Given the description of an element on the screen output the (x, y) to click on. 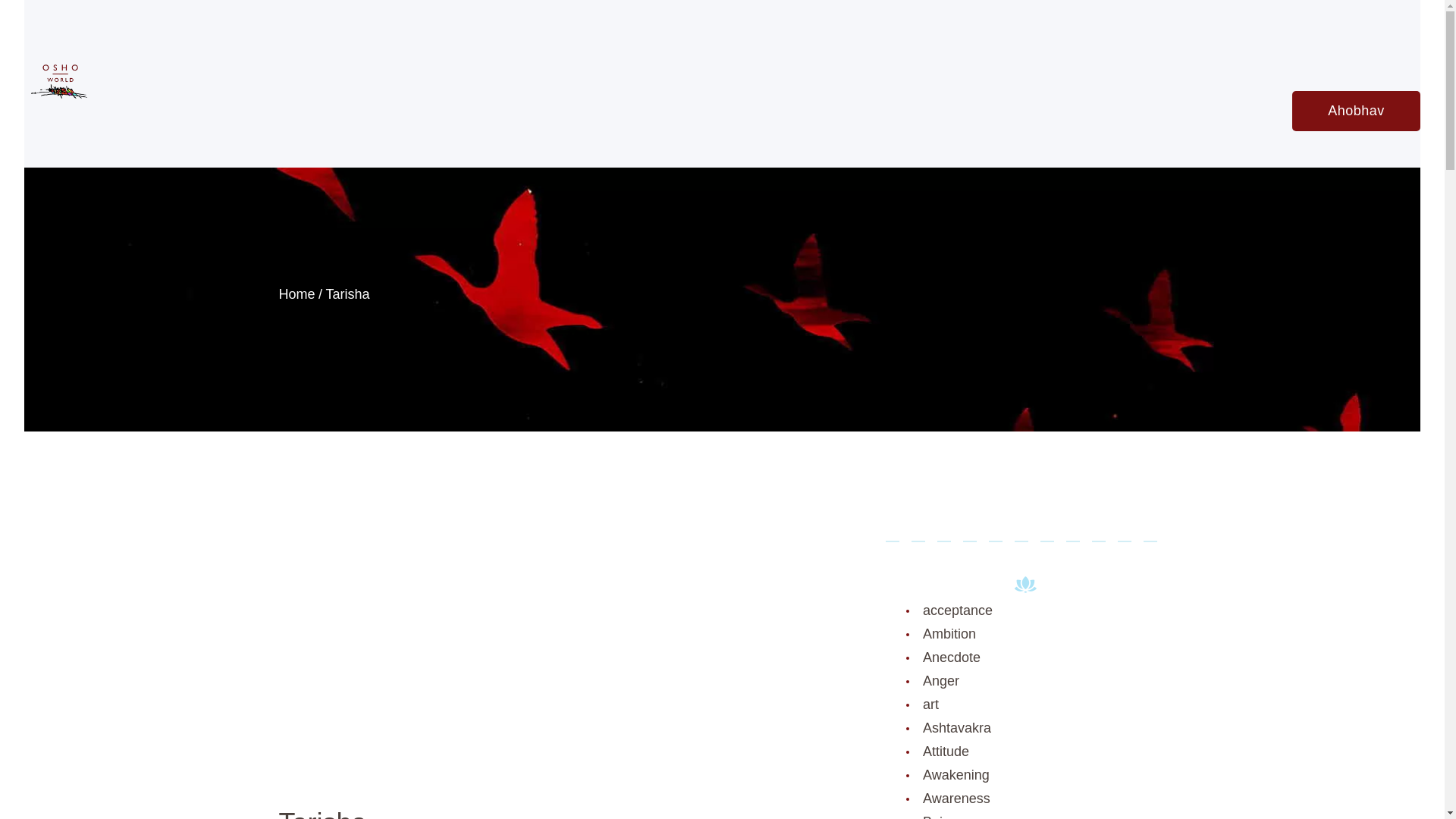
Home (297, 293)
Advertisement (571, 662)
Ahobhav (1355, 110)
